Given the description of an element on the screen output the (x, y) to click on. 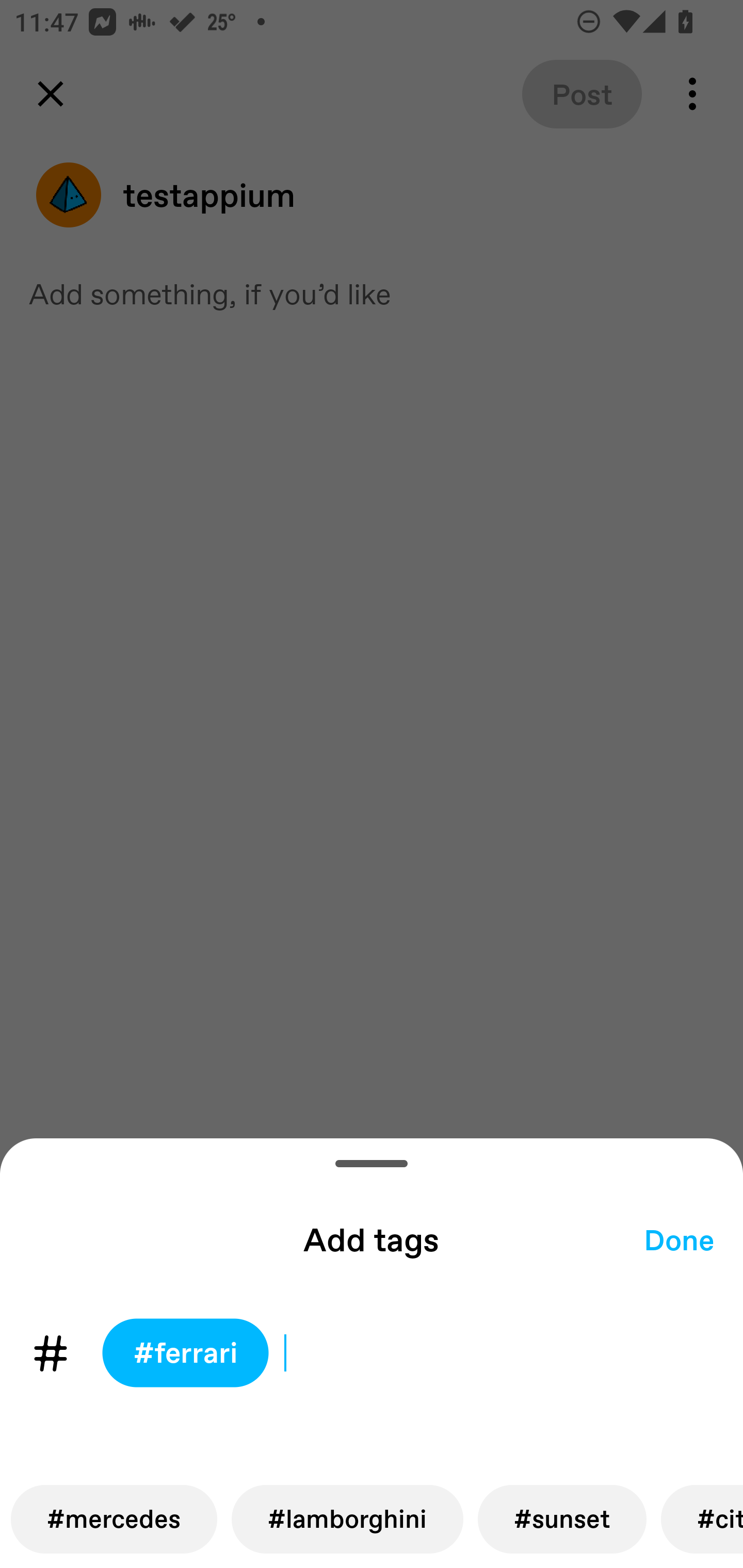
Done (679, 1239)
#ferrari (185, 1353)
#mercedes (113, 1518)
#lamborghini (347, 1518)
#sunset (561, 1518)
